Given the description of an element on the screen output the (x, y) to click on. 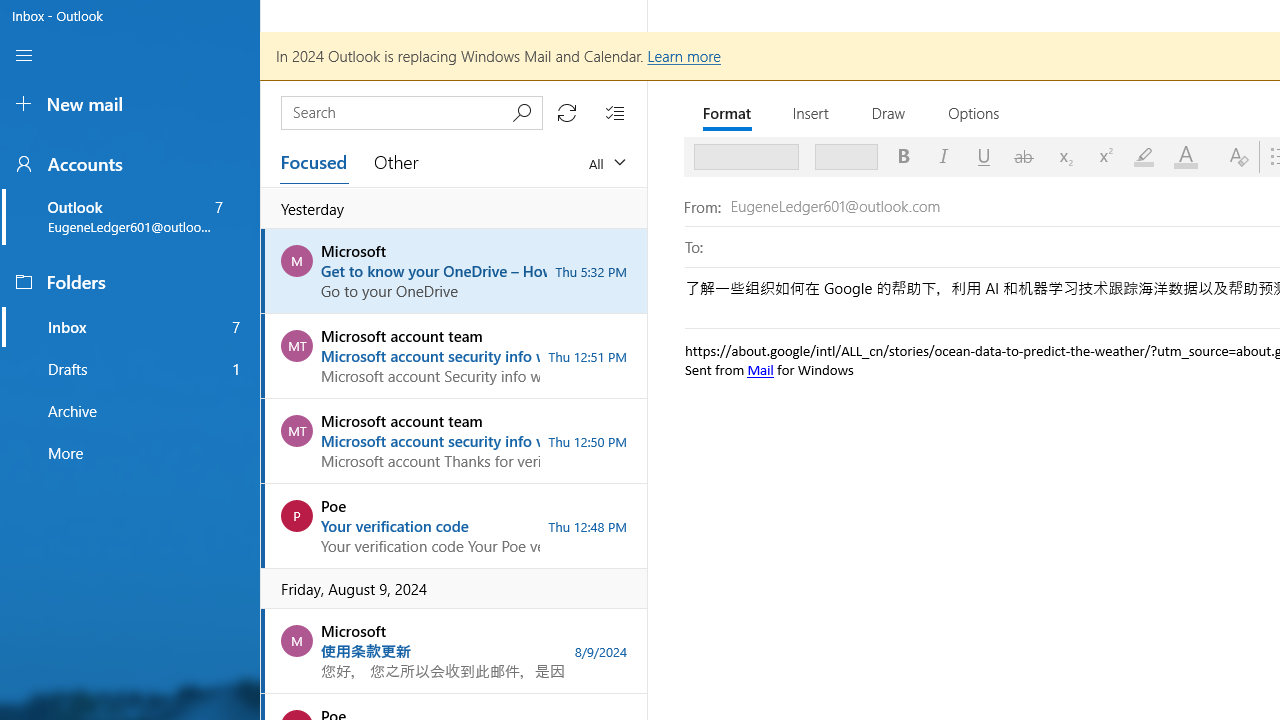
Highlight (1143, 156)
Italic (943, 156)
Underline (983, 156)
Enter selection mode (614, 112)
Focused (315, 161)
Learn more (682, 55)
More (129, 452)
Strikethrough (1023, 156)
Manage accounts (129, 163)
Font (739, 156)
Navigation (24, 55)
New mail (129, 103)
